Given the description of an element on the screen output the (x, y) to click on. 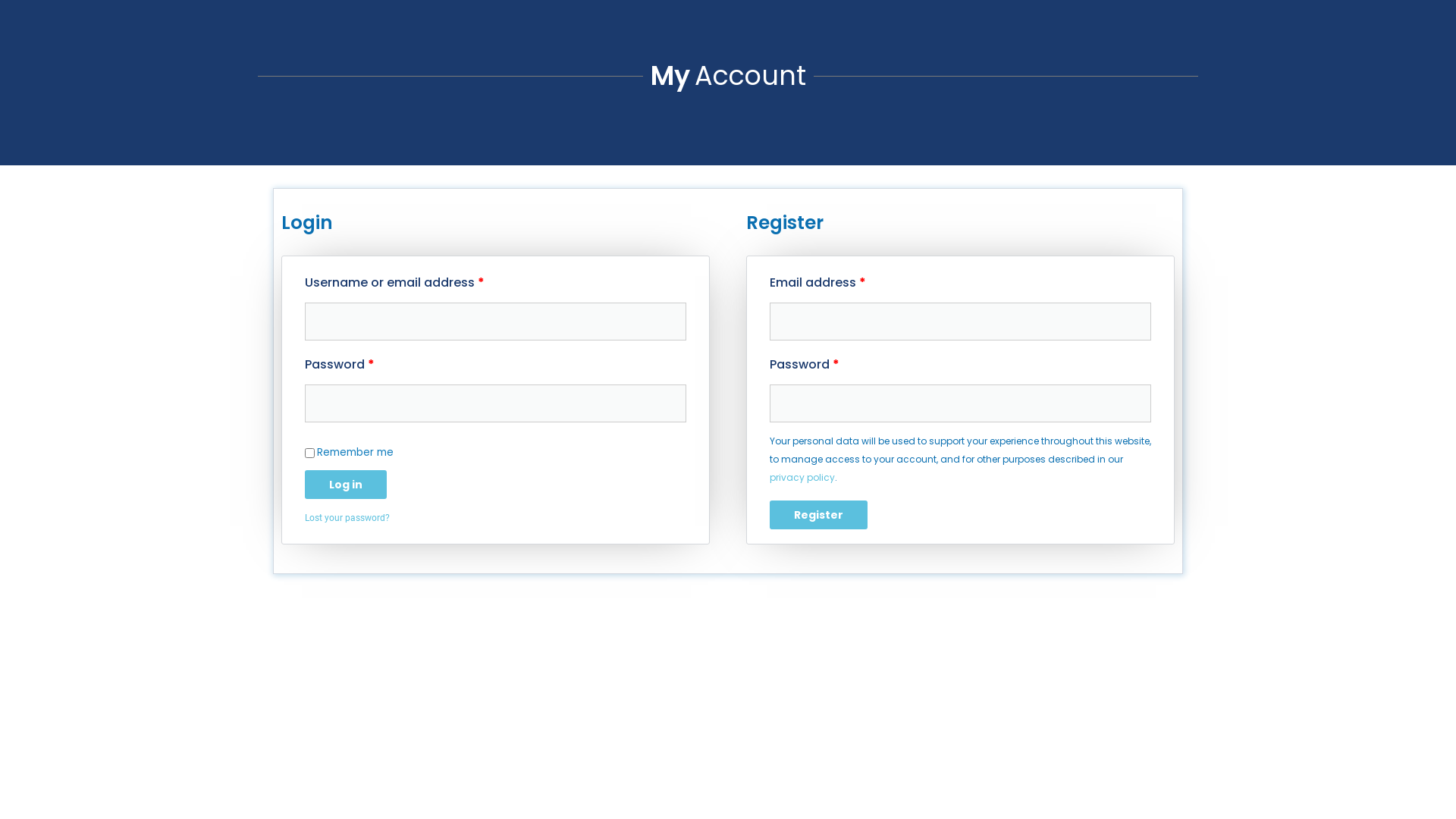
Log in Element type: text (345, 484)
privacy policy Element type: text (801, 476)
Lost your password? Element type: text (346, 517)
Register Element type: text (818, 514)
